Given the description of an element on the screen output the (x, y) to click on. 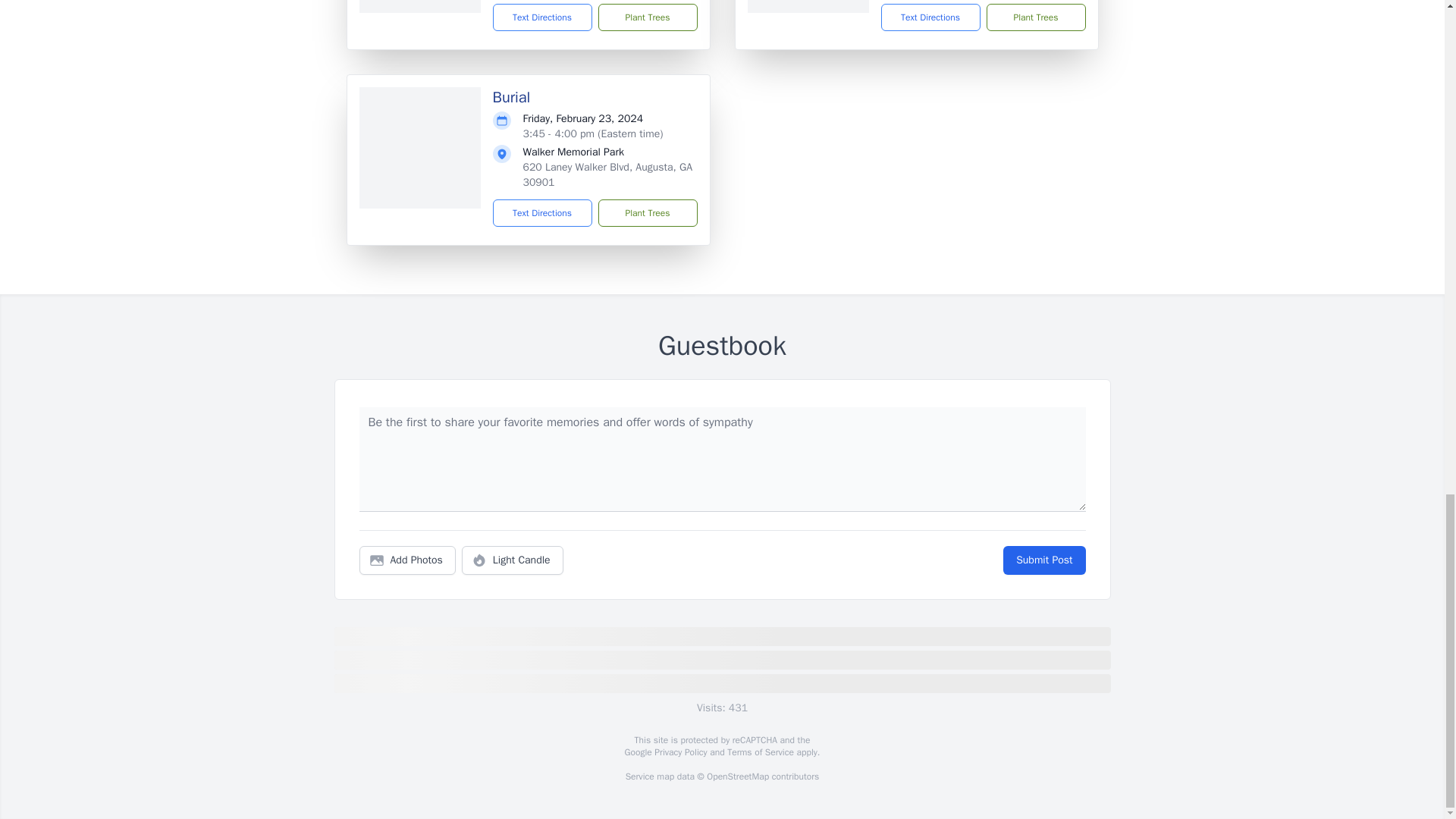
Light Candle (512, 560)
Plant Trees (646, 212)
Submit Post (1043, 560)
Privacy Policy (679, 752)
Plant Trees (1034, 17)
Plant Trees (646, 17)
620 Laney Walker Blvd, Augusta, GA 30901 (607, 174)
Text Directions (542, 17)
Text Directions (542, 212)
Add Photos (407, 560)
